Given the description of an element on the screen output the (x, y) to click on. 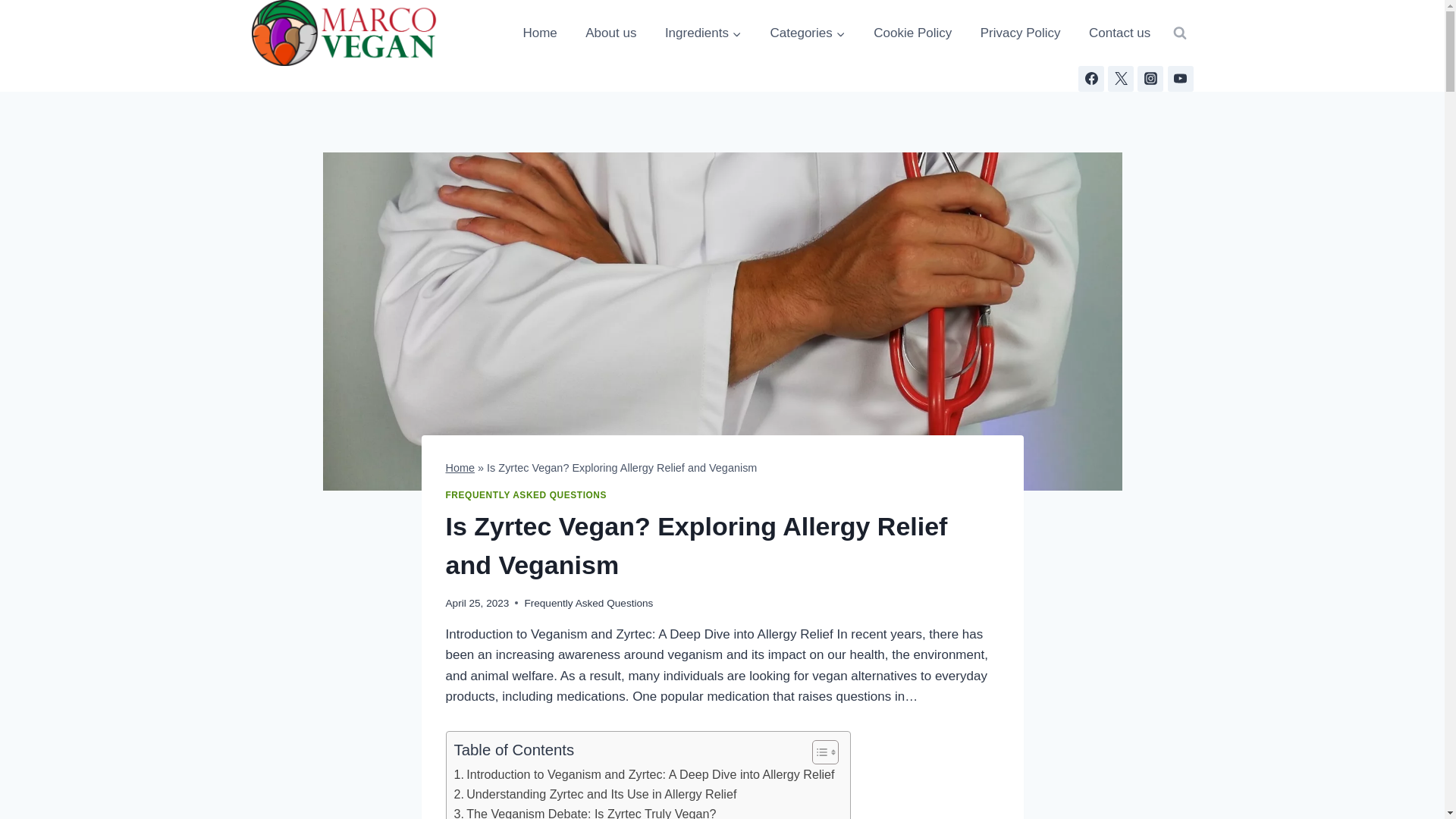
Contact us (1119, 33)
The Veganism Debate: Is Zyrtec Truly Vegan? (584, 811)
Frequently Asked Questions (588, 603)
Understanding Zyrtec and Its Use in Allergy Relief (594, 794)
About us (610, 33)
Categories (807, 33)
Cookie Policy (912, 33)
FREQUENTLY ASKED QUESTIONS (526, 494)
Ingredients (703, 33)
Home (460, 467)
Home (539, 33)
Privacy Policy (1020, 33)
